Given the description of an element on the screen output the (x, y) to click on. 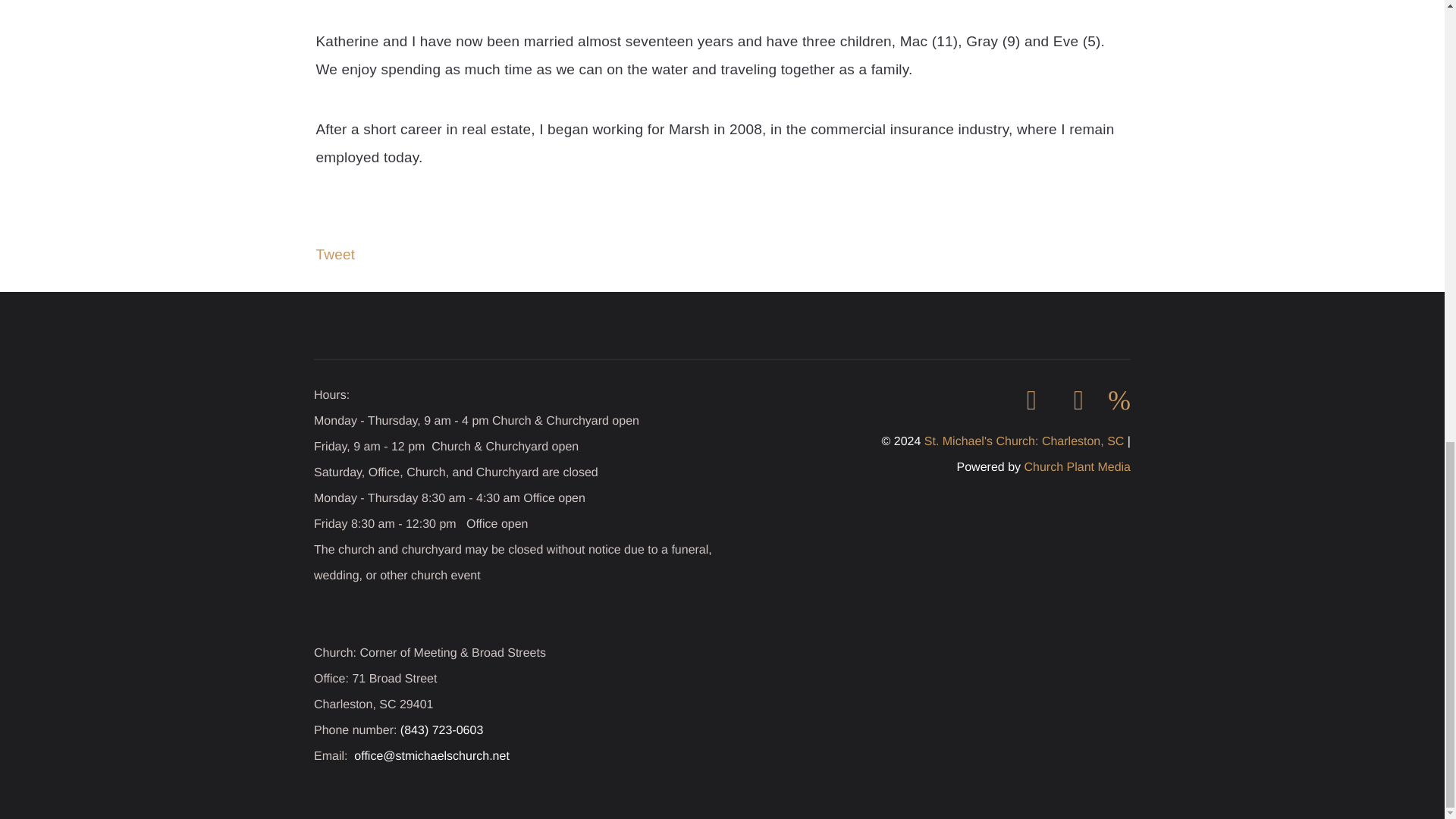
Tweet (335, 254)
